Given the description of an element on the screen output the (x, y) to click on. 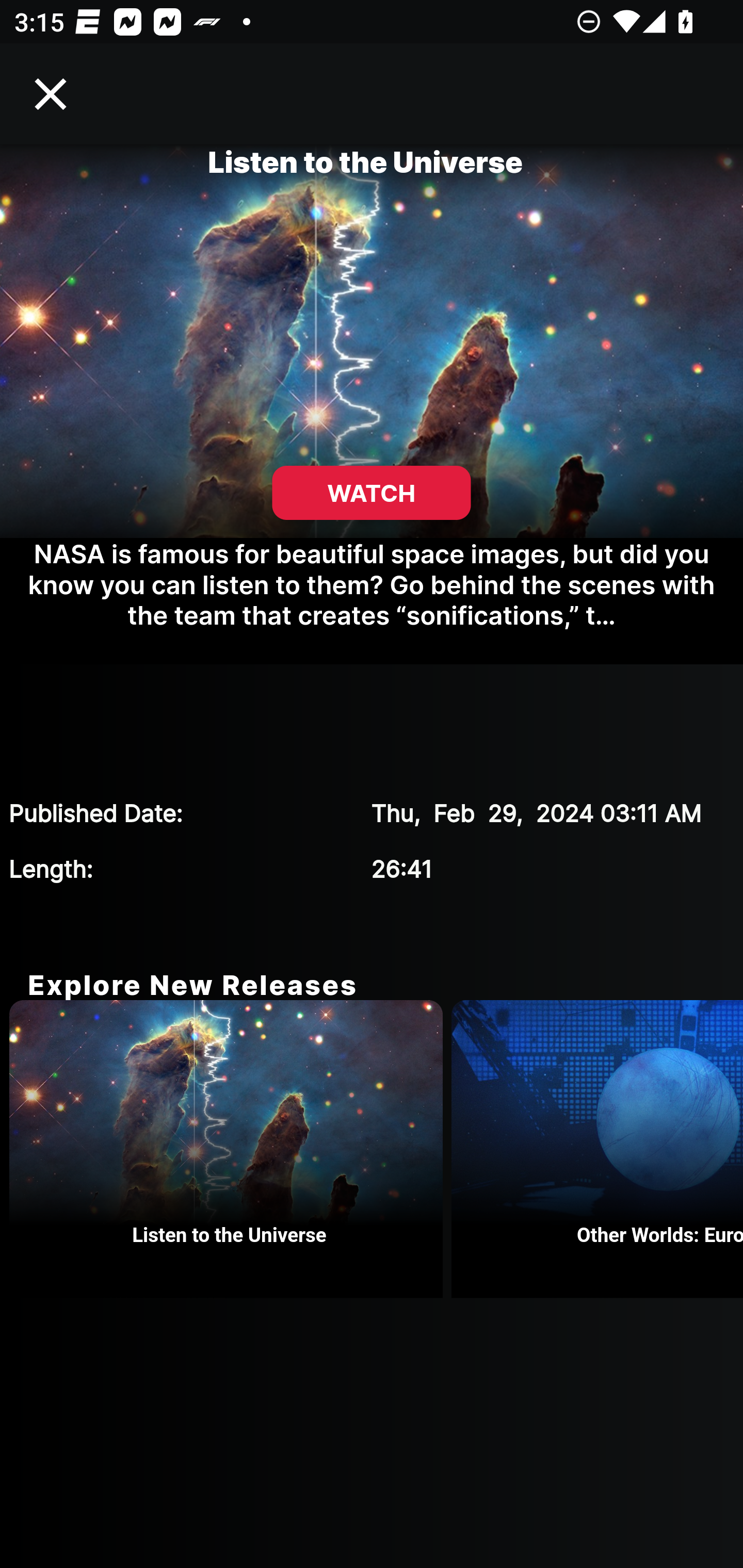
WATCH (371, 492)
Listen to the Universe (229, 1149)
Other Worlds: Europa (597, 1149)
